Given the description of an element on the screen output the (x, y) to click on. 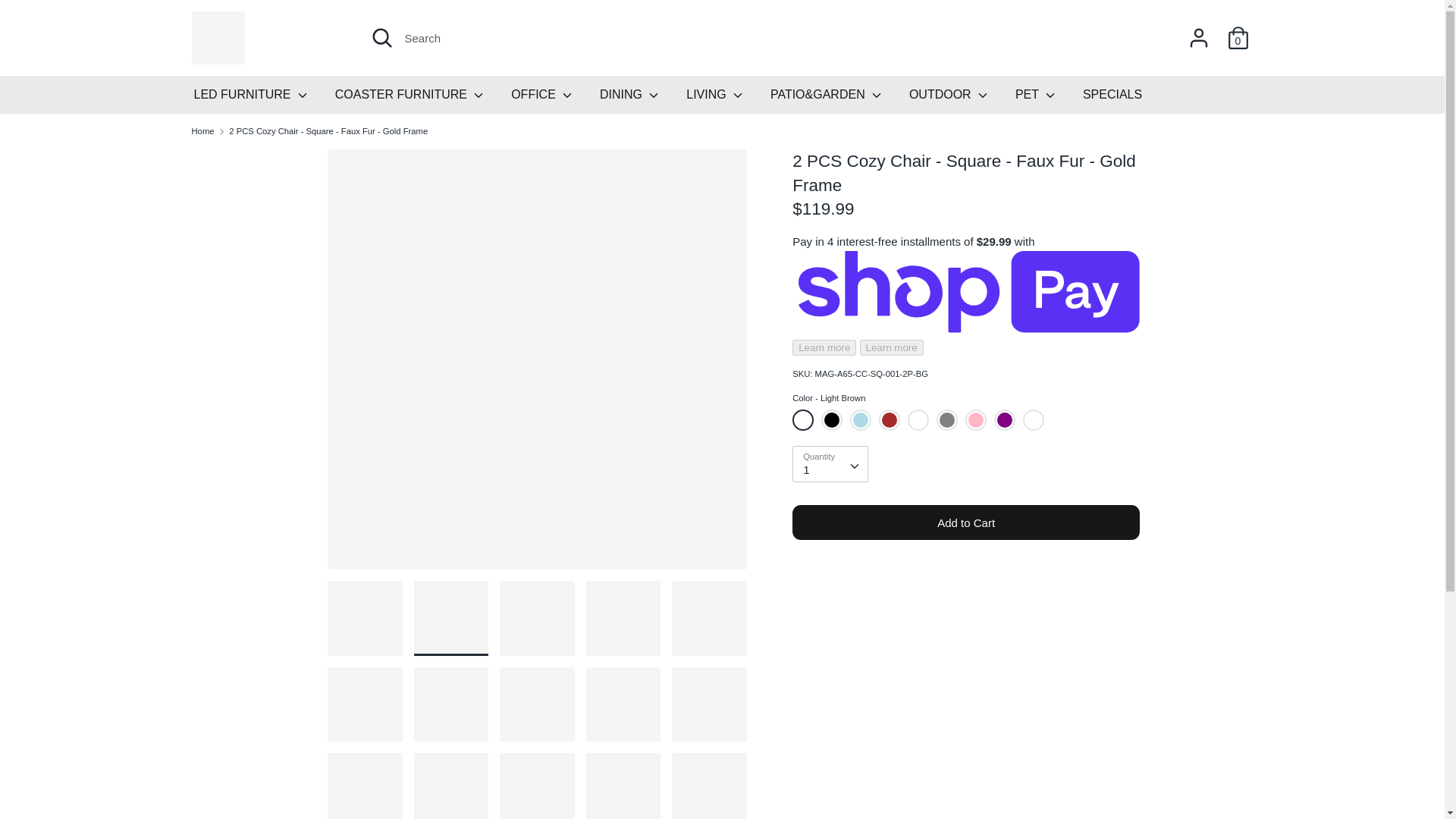
American Express (969, 771)
Apple Pay (1002, 771)
0 (1237, 31)
Contact us (255, 491)
Discover (1069, 771)
Diners Club (1035, 771)
1 (830, 463)
